Given the description of an element on the screen output the (x, y) to click on. 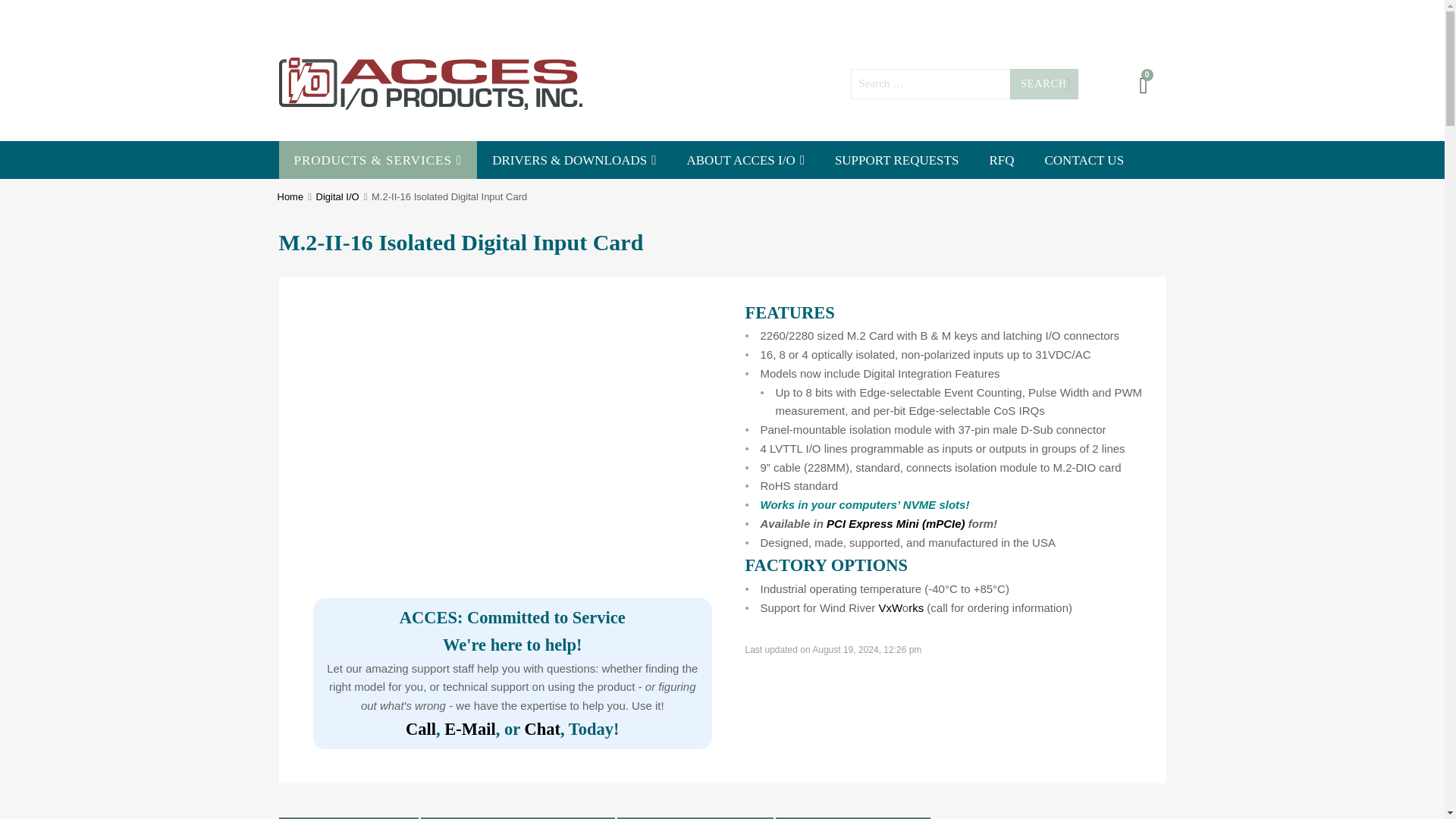
Search (1044, 83)
REGISTER (412, 15)
Login (800, 431)
Register (796, 469)
SALES INQUIRIES (917, 15)
Search (1044, 83)
0 (1143, 85)
SIGN IN (355, 15)
INTERNATIONAL DISTRIBUTORS (1071, 15)
Search (1044, 83)
